Given the description of an element on the screen output the (x, y) to click on. 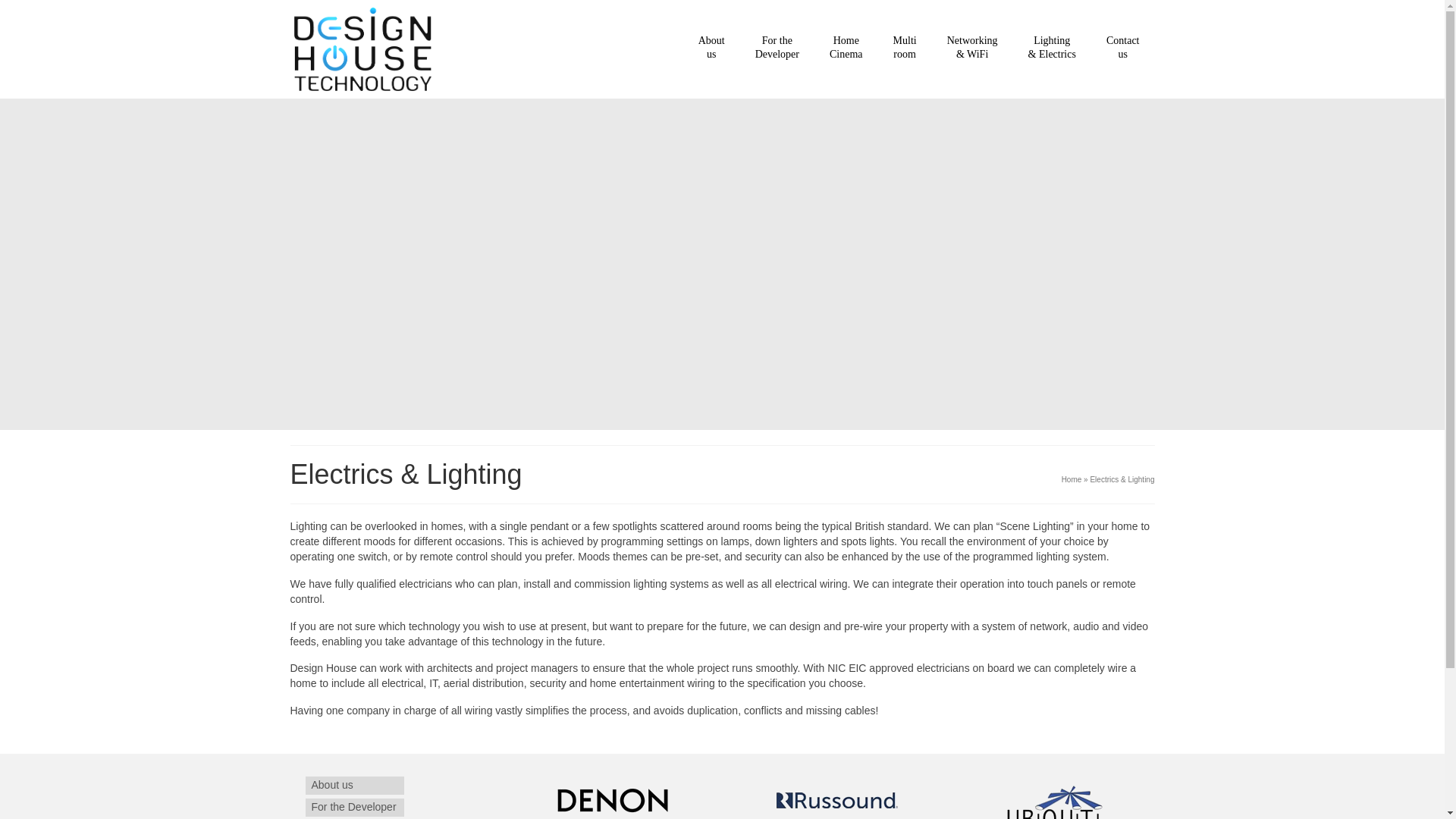
For the Developer (776, 47)
About us (710, 47)
Home (845, 47)
Design House (353, 807)
